Given the description of an element on the screen output the (x, y) to click on. 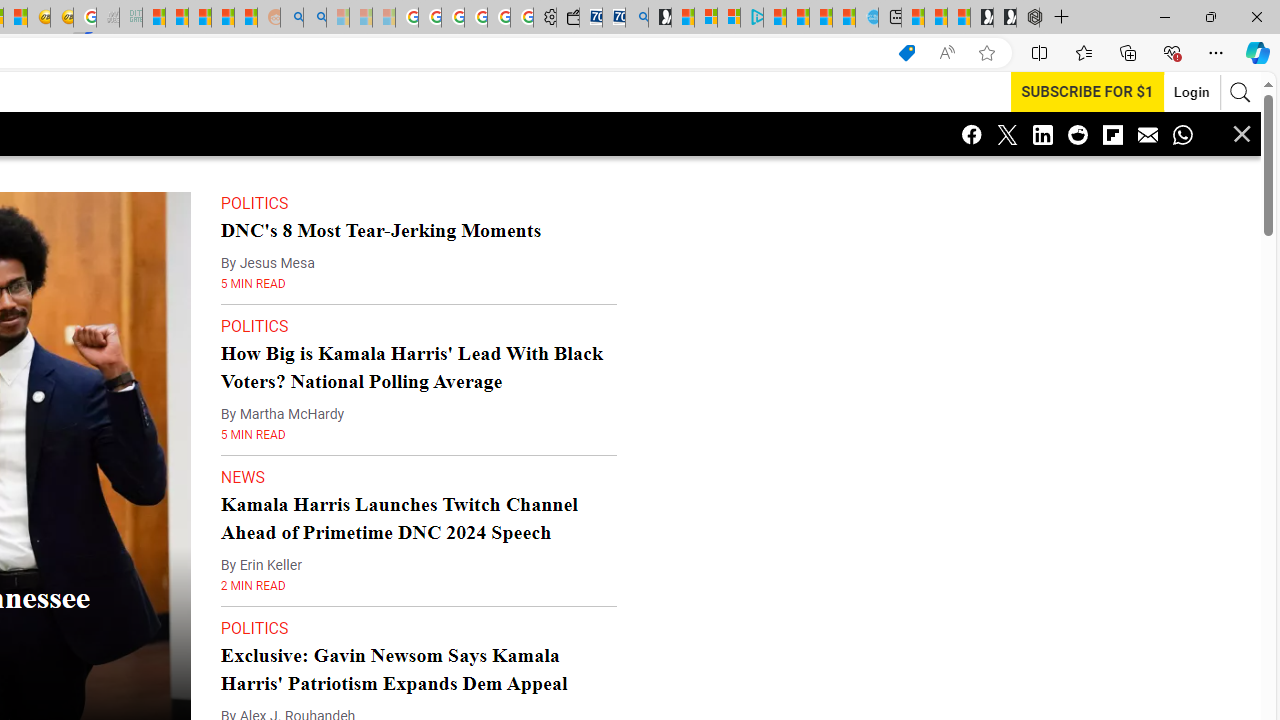
Student Loan Update: Forgiveness Program Ends This Month (223, 17)
By Erin Keller (261, 565)
By Martha McHardy (282, 414)
DNC's 8 Most Tear-Jerking Moments (380, 229)
AutomationID: search-btn (1240, 92)
Wallet (567, 17)
